Given the description of an element on the screen output the (x, y) to click on. 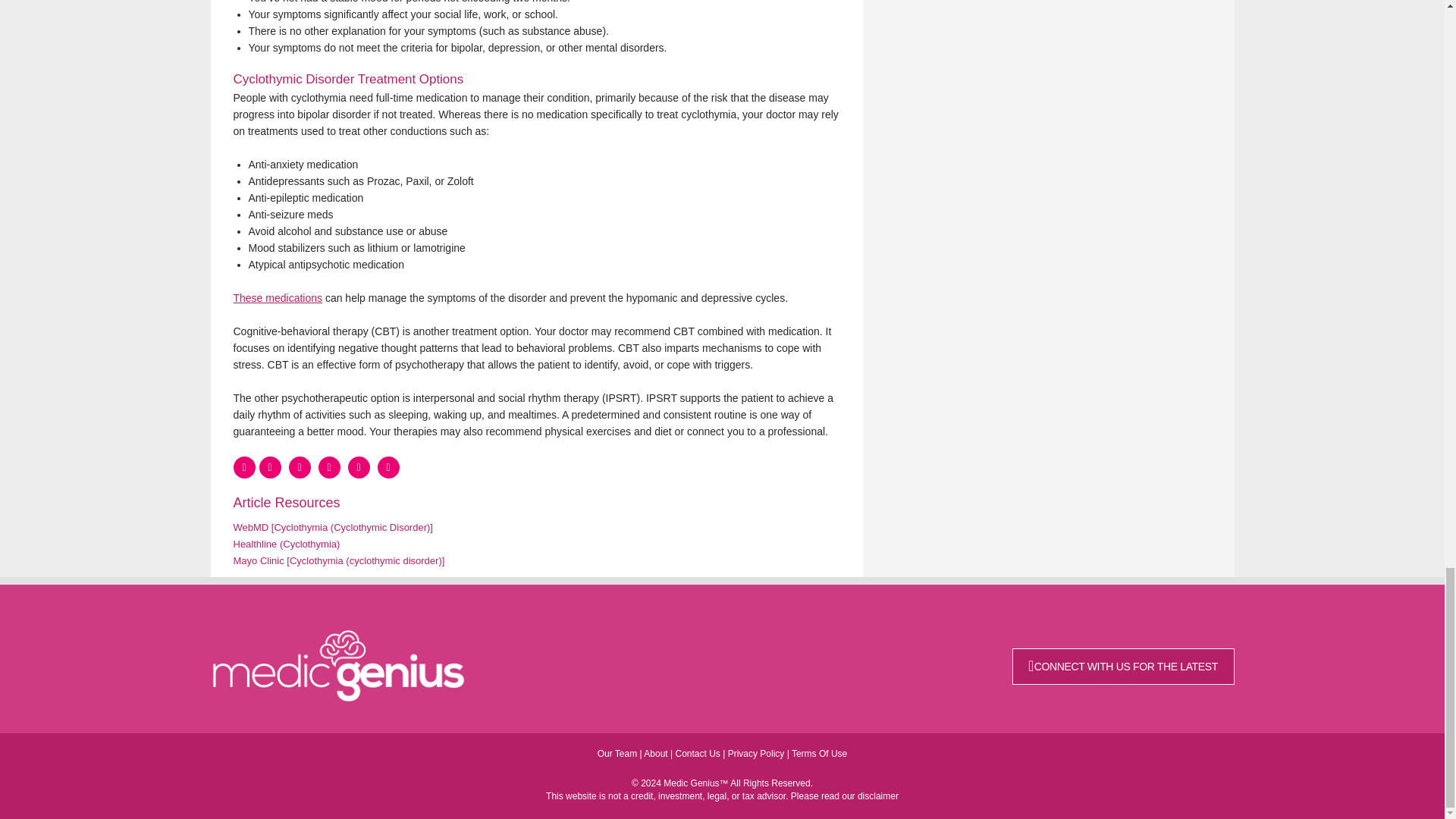
Pinterest (358, 467)
Messenger (299, 467)
Twitter (329, 467)
These medications (277, 297)
Email (387, 467)
Facebook (244, 467)
Bookmark (270, 467)
